Given the description of an element on the screen output the (x, y) to click on. 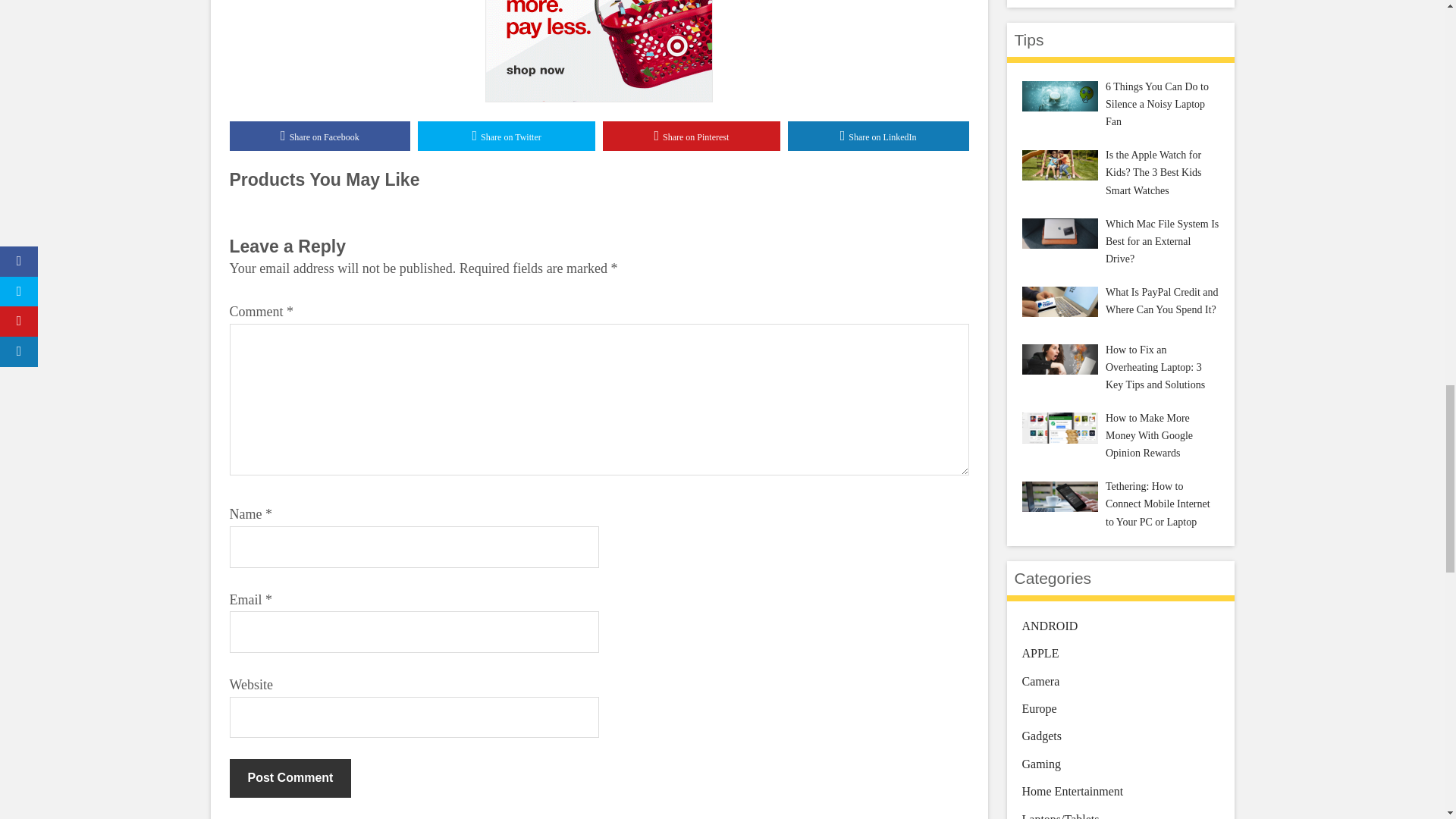
Post Comment (289, 777)
